Given the description of an element on the screen output the (x, y) to click on. 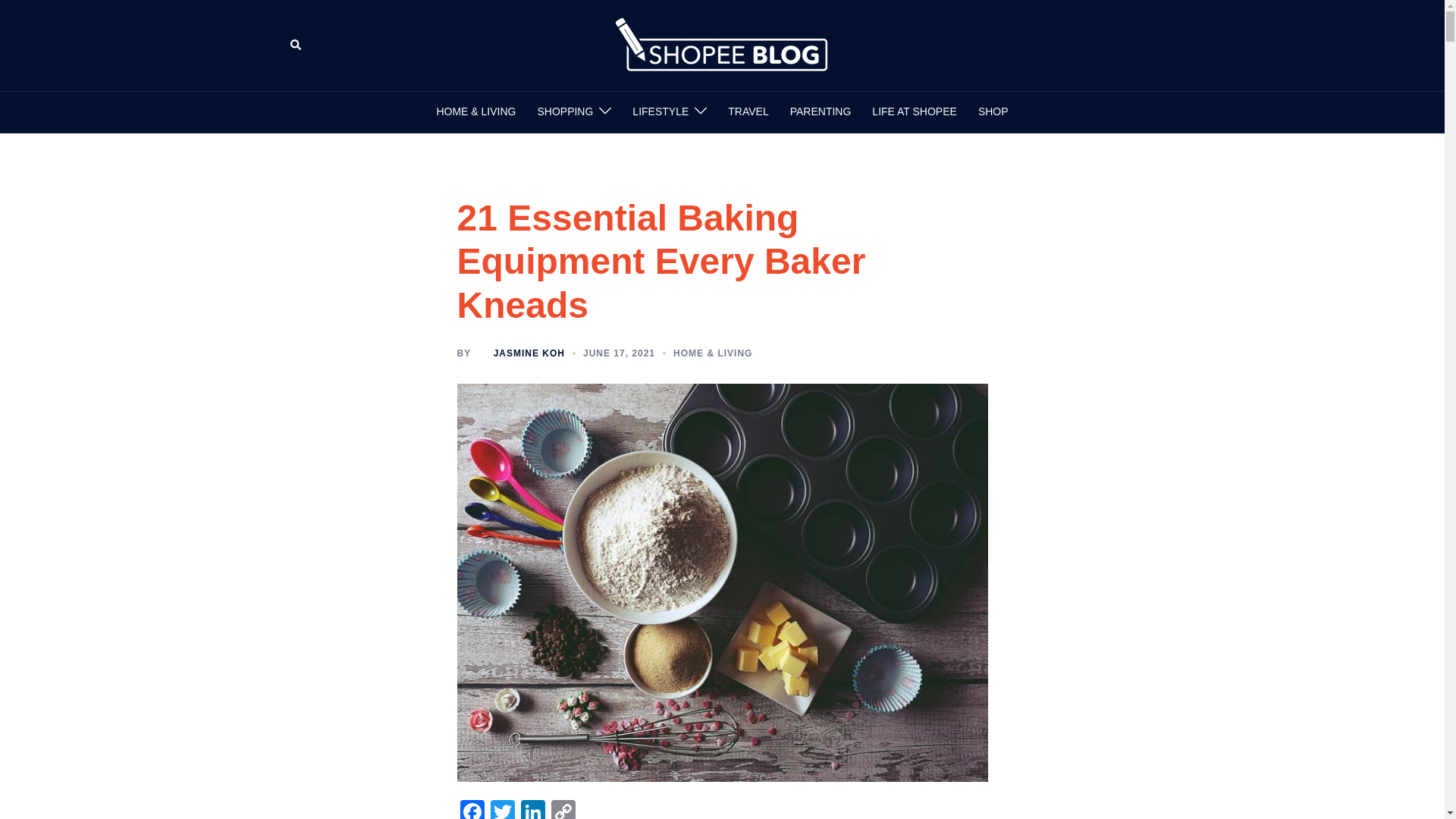
Shopee Singapore Official Blog (721, 43)
Copy Link (562, 809)
JUNE 17, 2021 (619, 353)
LIFE AT SHOPEE (914, 112)
SHOPPING (564, 112)
Facebook (471, 809)
TRAVEL (748, 112)
Twitter (501, 809)
Facebook (471, 809)
SHOP (993, 112)
